Given the description of an element on the screen output the (x, y) to click on. 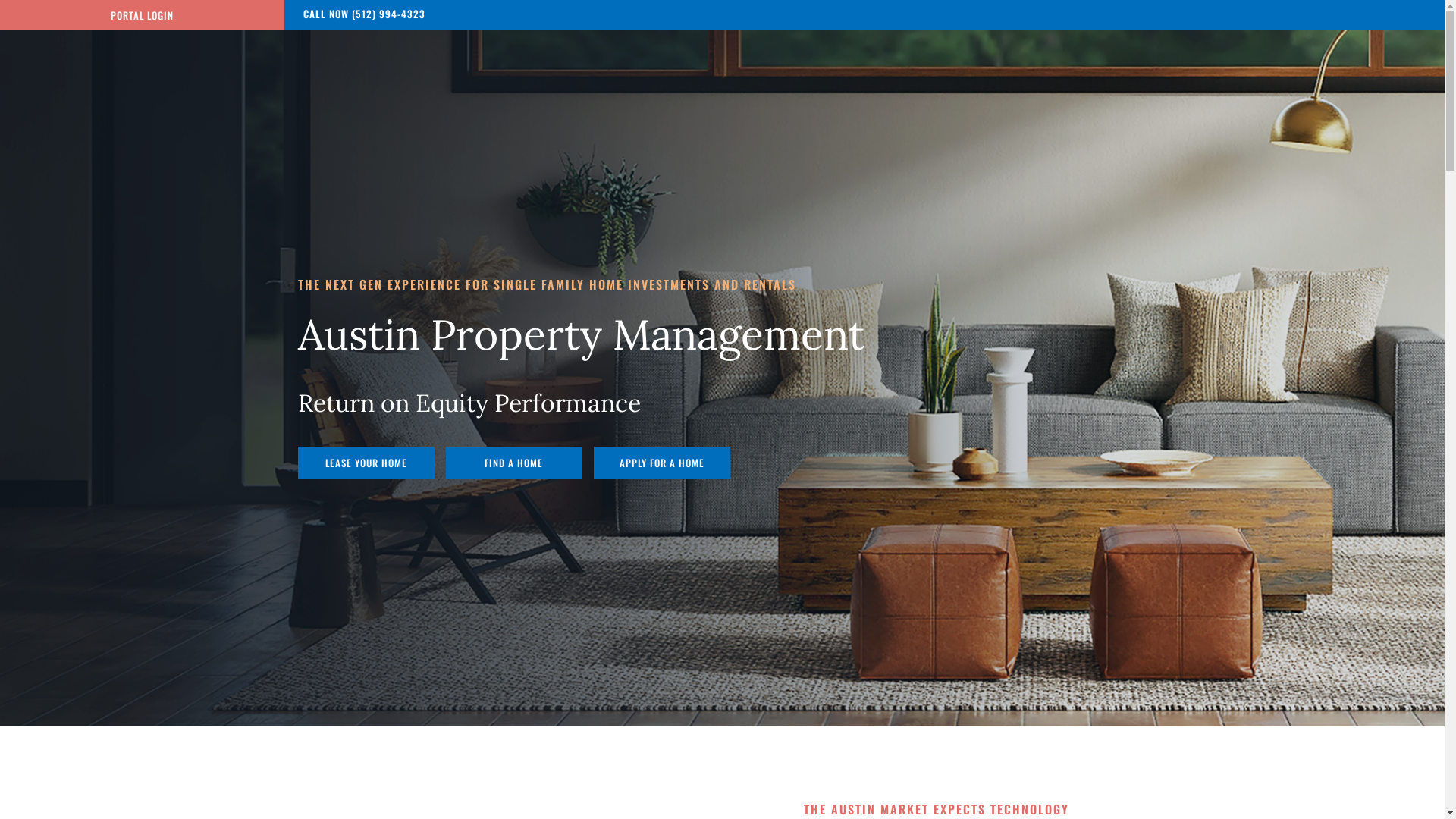
PORTAL LOGIN Element type: text (141, 14)
APPLY FOR A HOME Element type: text (661, 462)
FIND A HOME Element type: text (513, 462)
LEASE YOUR HOME Element type: text (365, 462)
CALL NOW (512) 994-4323 Element type: text (364, 13)
